Given the description of an element on the screen output the (x, y) to click on. 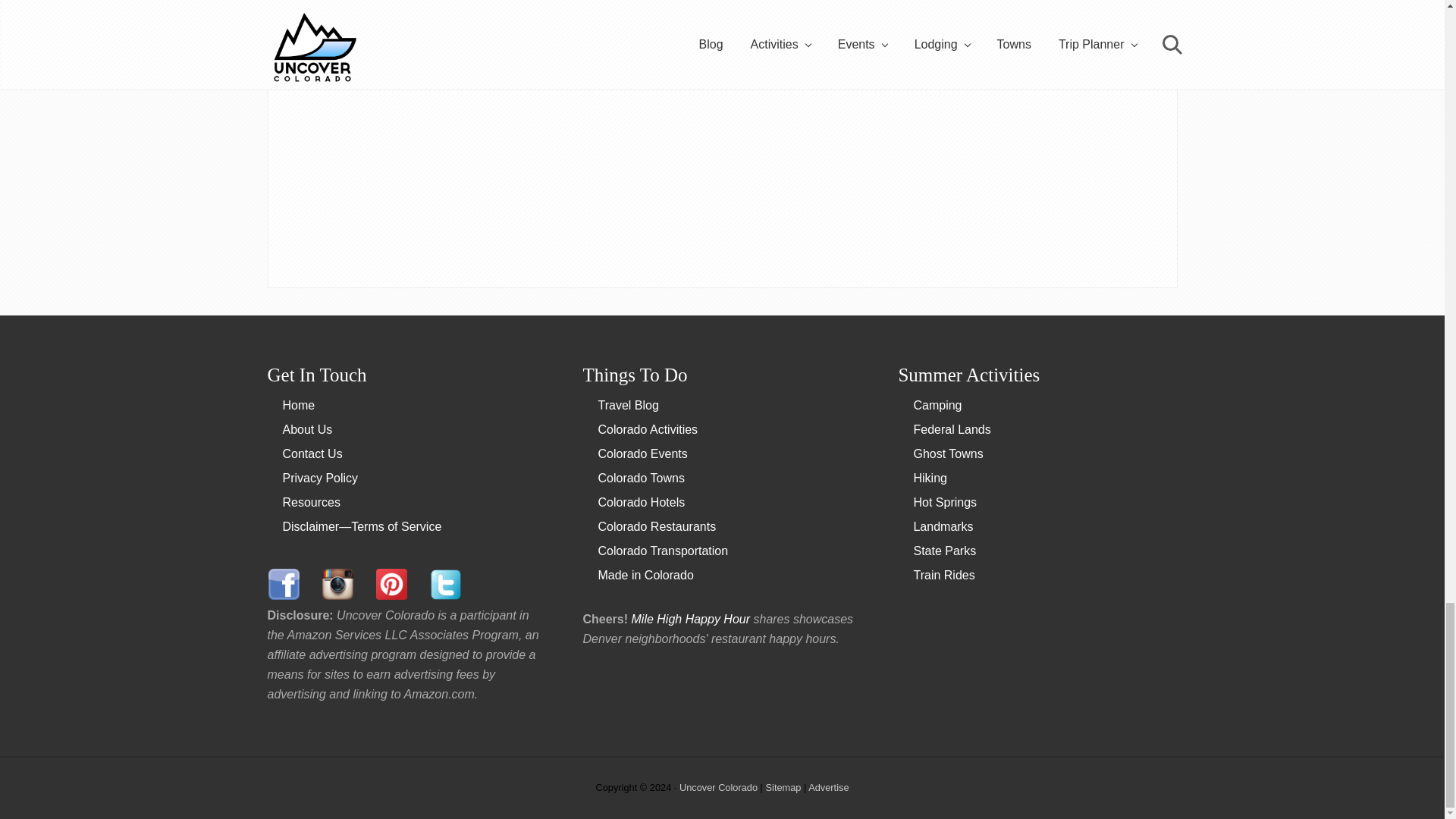
Colorado Travel Guide (298, 404)
Privacy Policy (320, 477)
Contact Uncover Colorado (312, 453)
About Uncover Colorado (306, 429)
